Given the description of an element on the screen output the (x, y) to click on. 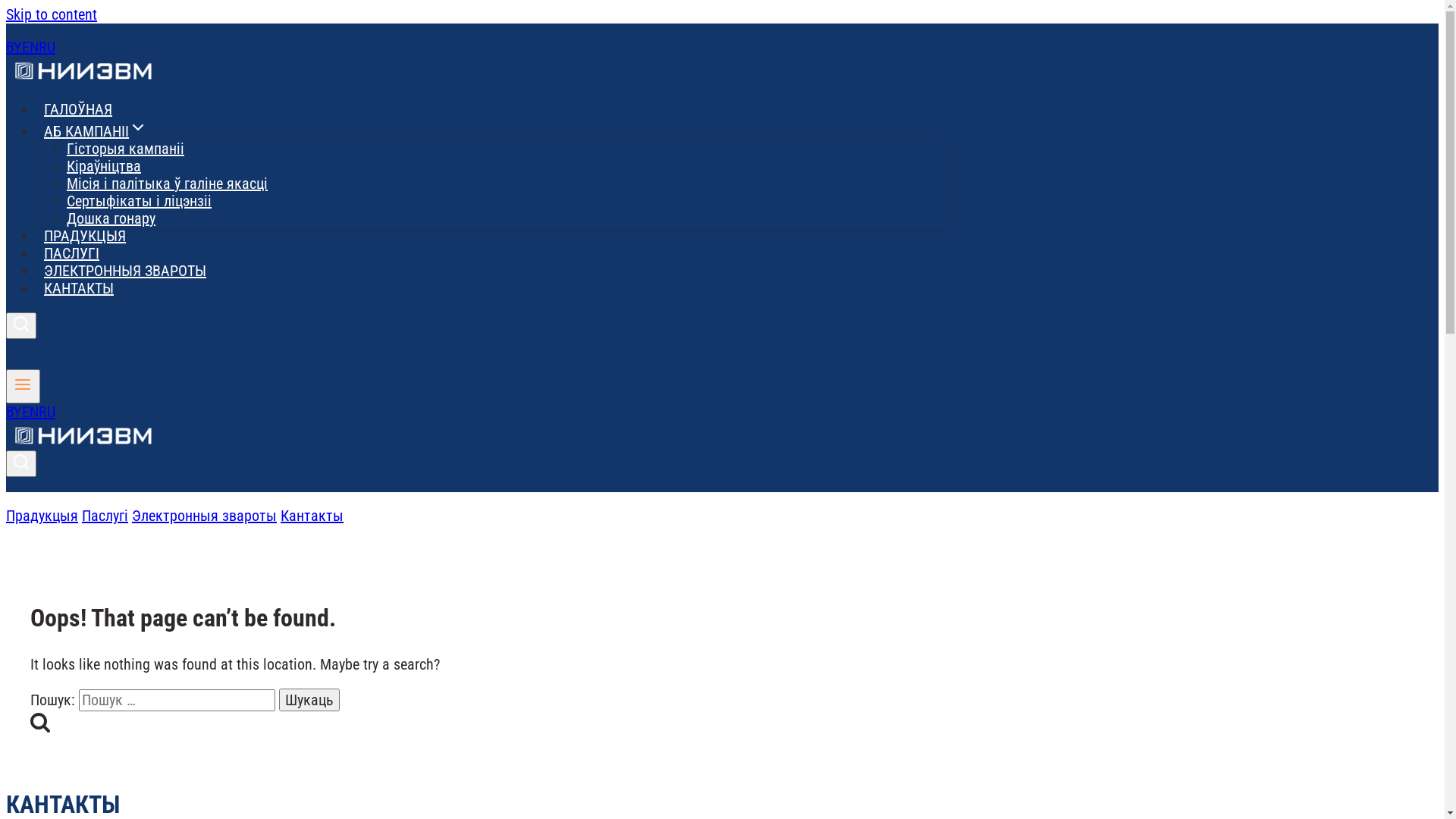
Search Element type: text (21, 463)
EN Element type: text (29, 46)
EN Element type: text (29, 411)
BY Element type: text (13, 46)
RU Element type: text (46, 411)
RU Element type: text (46, 46)
BY Element type: text (13, 411)
Search Element type: text (21, 325)
Skip to content Element type: text (51, 14)
Toggle Menu Element type: text (23, 386)
